Given the description of an element on the screen output the (x, y) to click on. 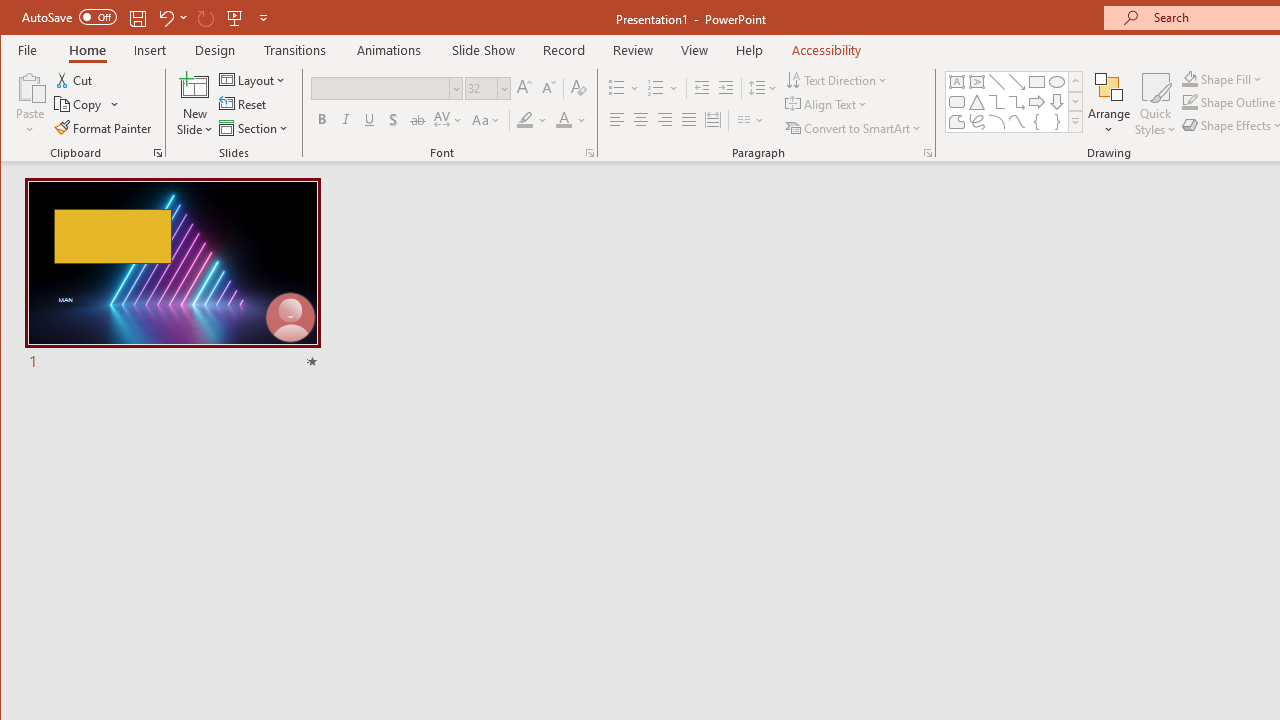
Right Brace (1057, 121)
Layout (253, 80)
Convert to SmartArt (855, 127)
Arrange (1108, 104)
Section (255, 127)
Text Highlight Color Yellow (525, 119)
Left Brace (1036, 121)
